Given the description of an element on the screen output the (x, y) to click on. 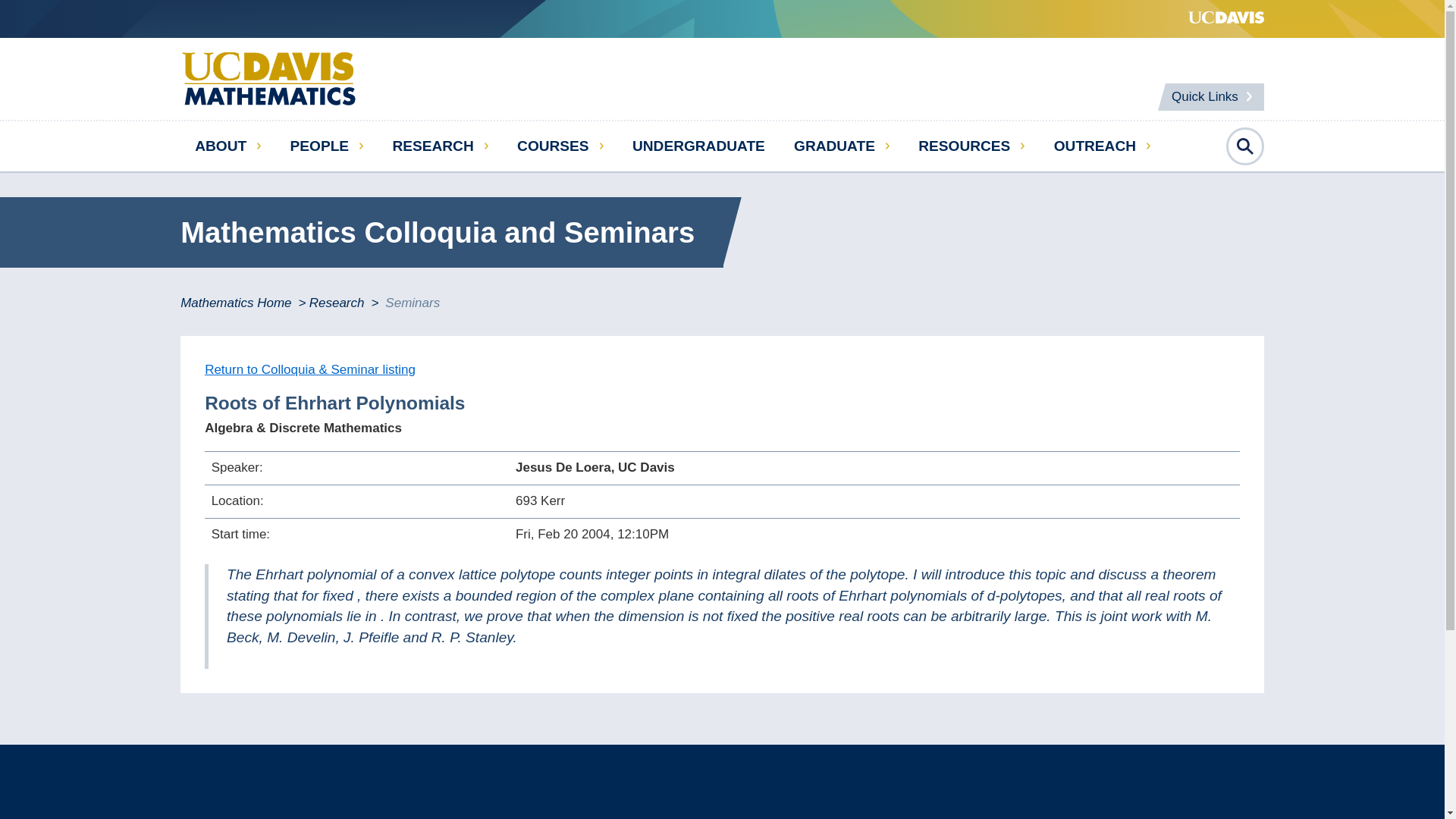
RESEARCH (439, 146)
Search (1405, 409)
ABOUT (227, 146)
COURSES (559, 146)
PEOPLE (326, 146)
Open (1244, 146)
